Given the description of an element on the screen output the (x, y) to click on. 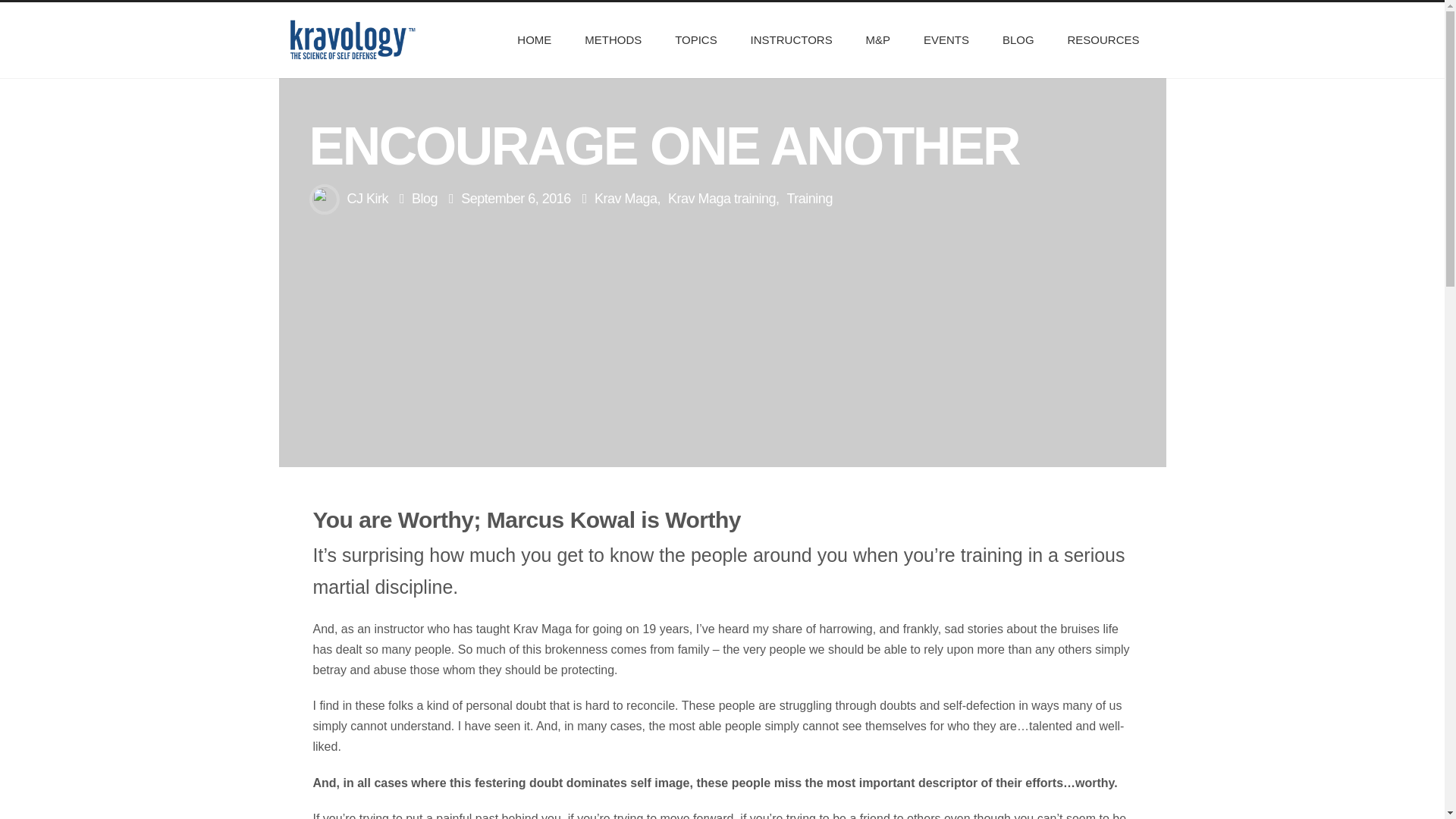
September 6, 2016 (515, 198)
Kravology (351, 39)
TOPICS (695, 39)
METHODS (612, 39)
View all posts tagged with Training (809, 198)
View all posts tagged with Krav Maga (626, 198)
HOME (534, 39)
View all posts tagged with Krav Maga training (722, 198)
View all posts in Blog (425, 198)
